Given the description of an element on the screen output the (x, y) to click on. 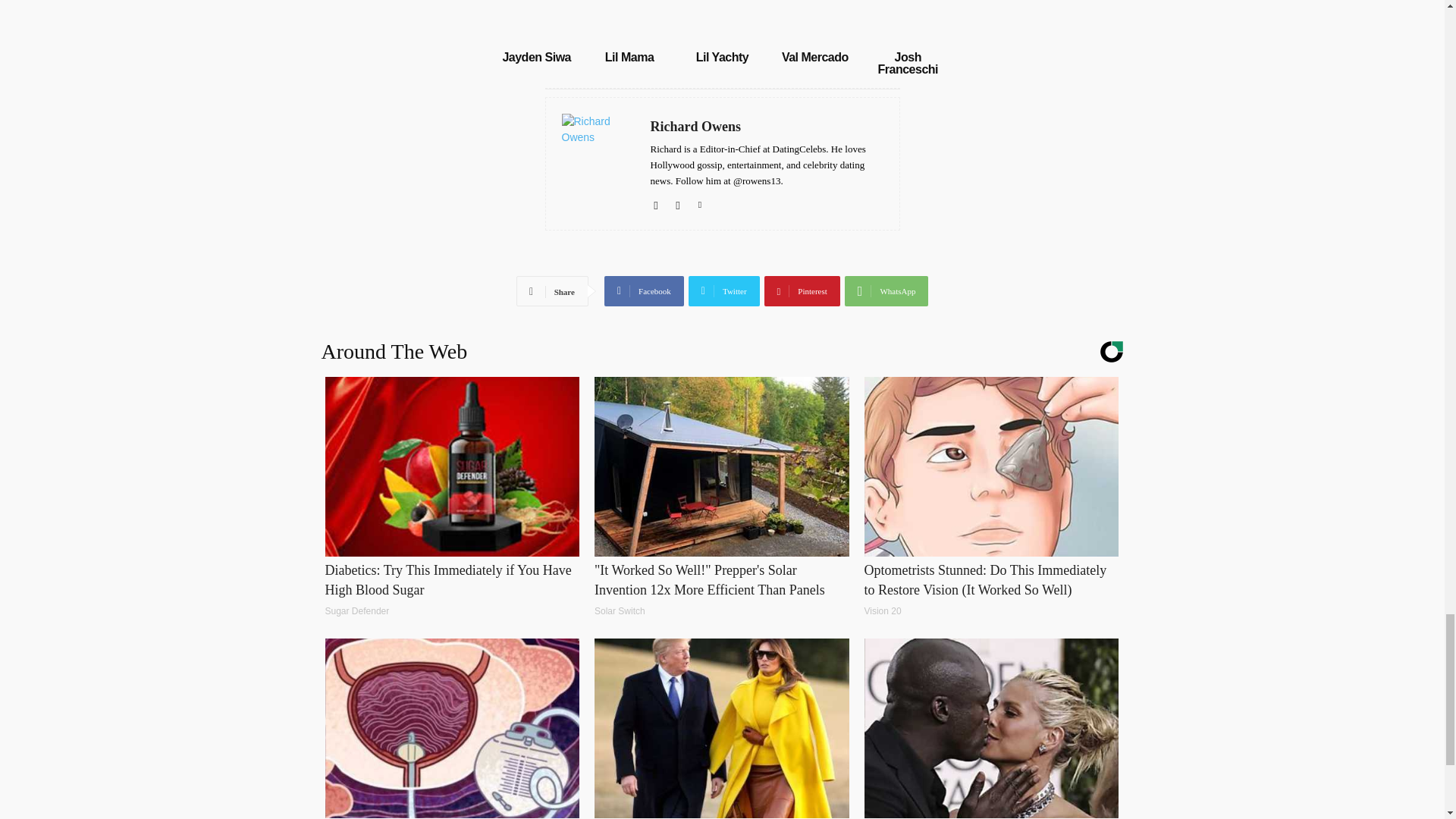
Twitter (724, 291)
Lil Mama (629, 56)
Jayden Siwa (536, 56)
Jayden Siwa (536, 22)
Facebook (644, 291)
WhatsApp (886, 291)
Lil Yachty (721, 56)
Josh Franceschi (907, 63)
Val Mercado (814, 56)
Lil Mama (629, 56)
Jayden Siwa (536, 56)
Lil Mama (629, 22)
Richard Owens (766, 126)
Pinterest (802, 291)
